Given the description of an element on the screen output the (x, y) to click on. 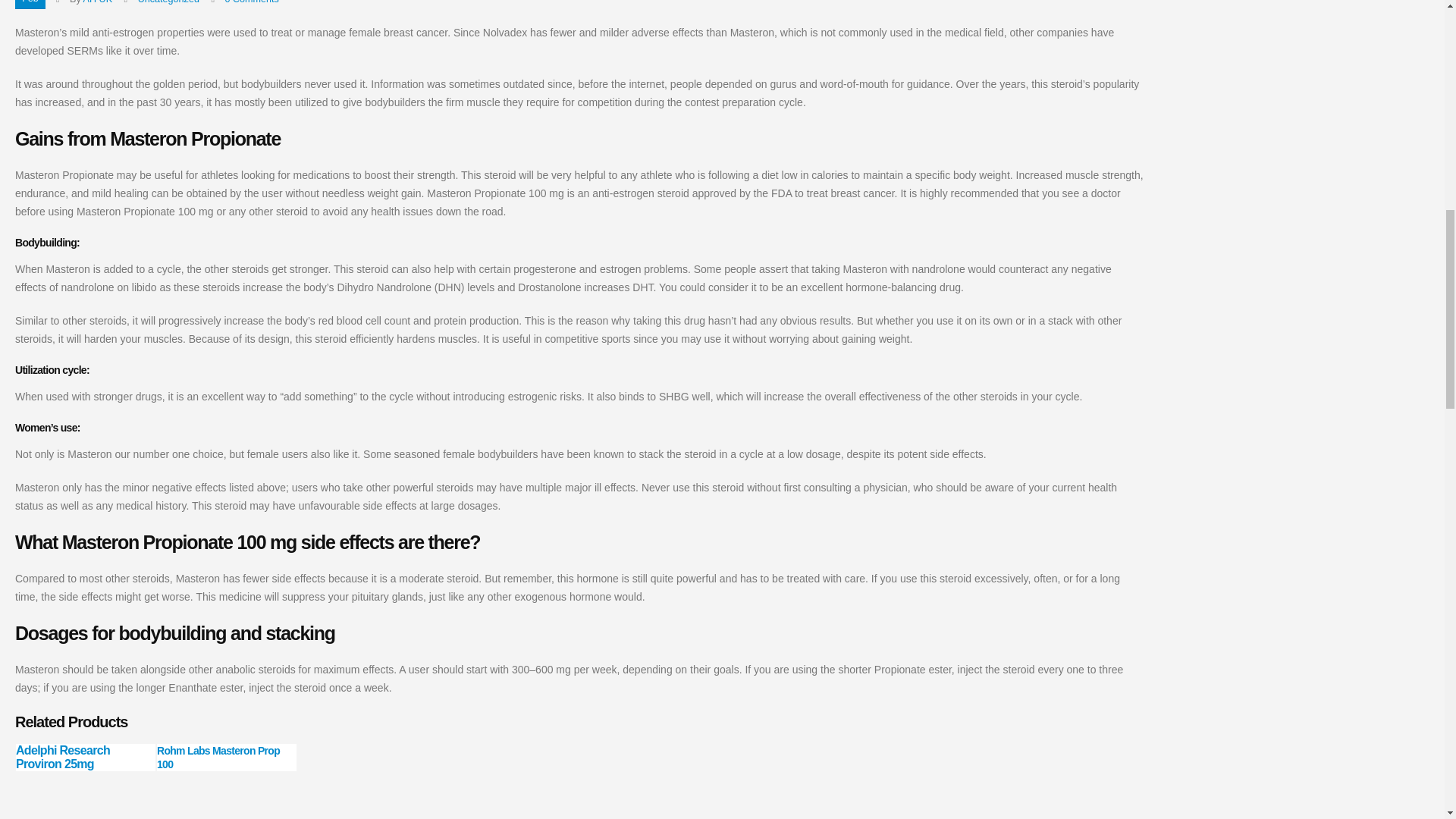
AH UK (97, 2)
Adelphi Research Proviron 25mg (63, 756)
0 Comments (252, 2)
Uncategorized (168, 2)
0 Comments (252, 2)
Posts by AH UK (97, 2)
Rohm Labs Masteron Prop 100 (218, 757)
